Given the description of an element on the screen output the (x, y) to click on. 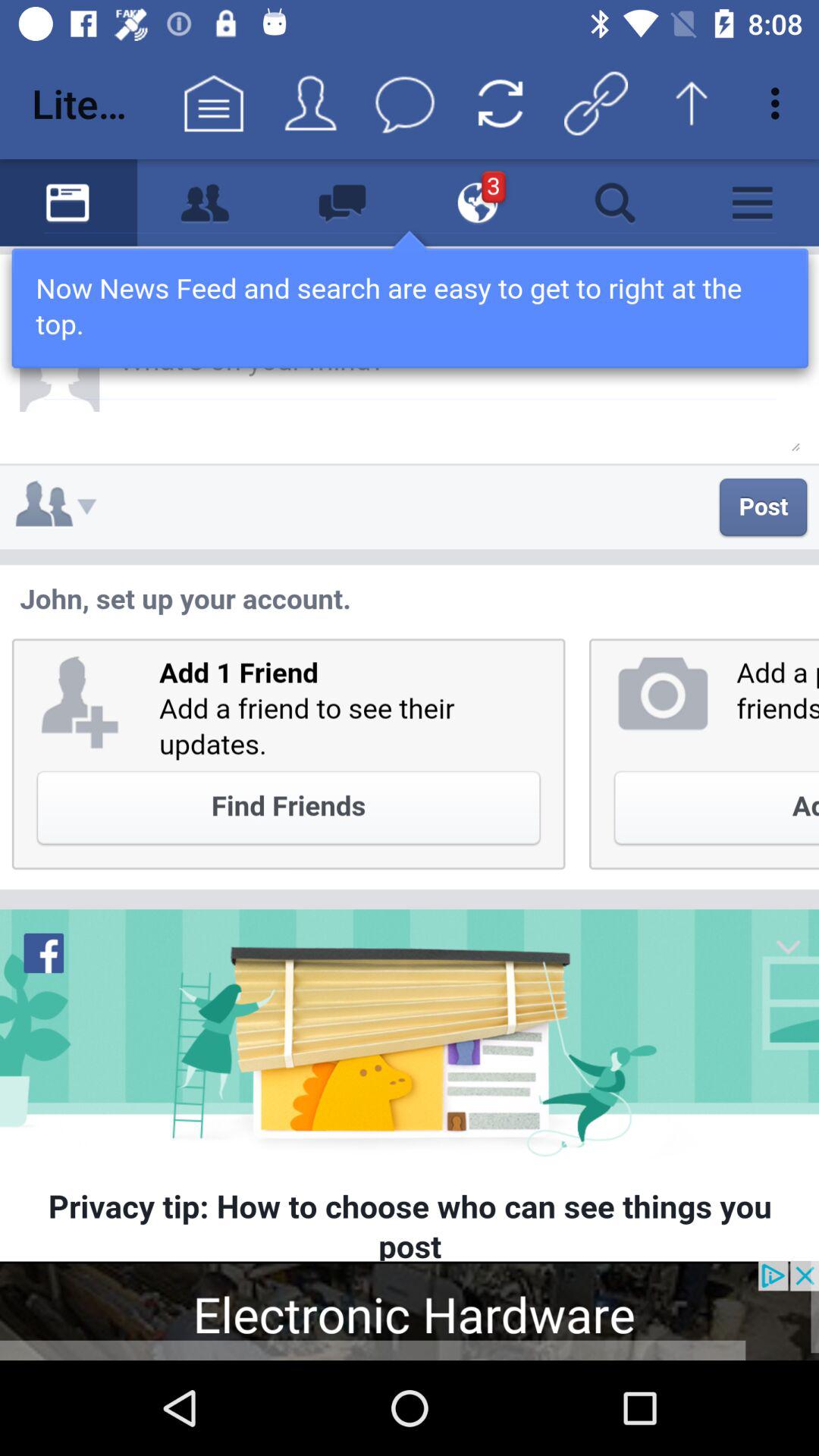
visit advertised website (409, 1310)
